Given the description of an element on the screen output the (x, y) to click on. 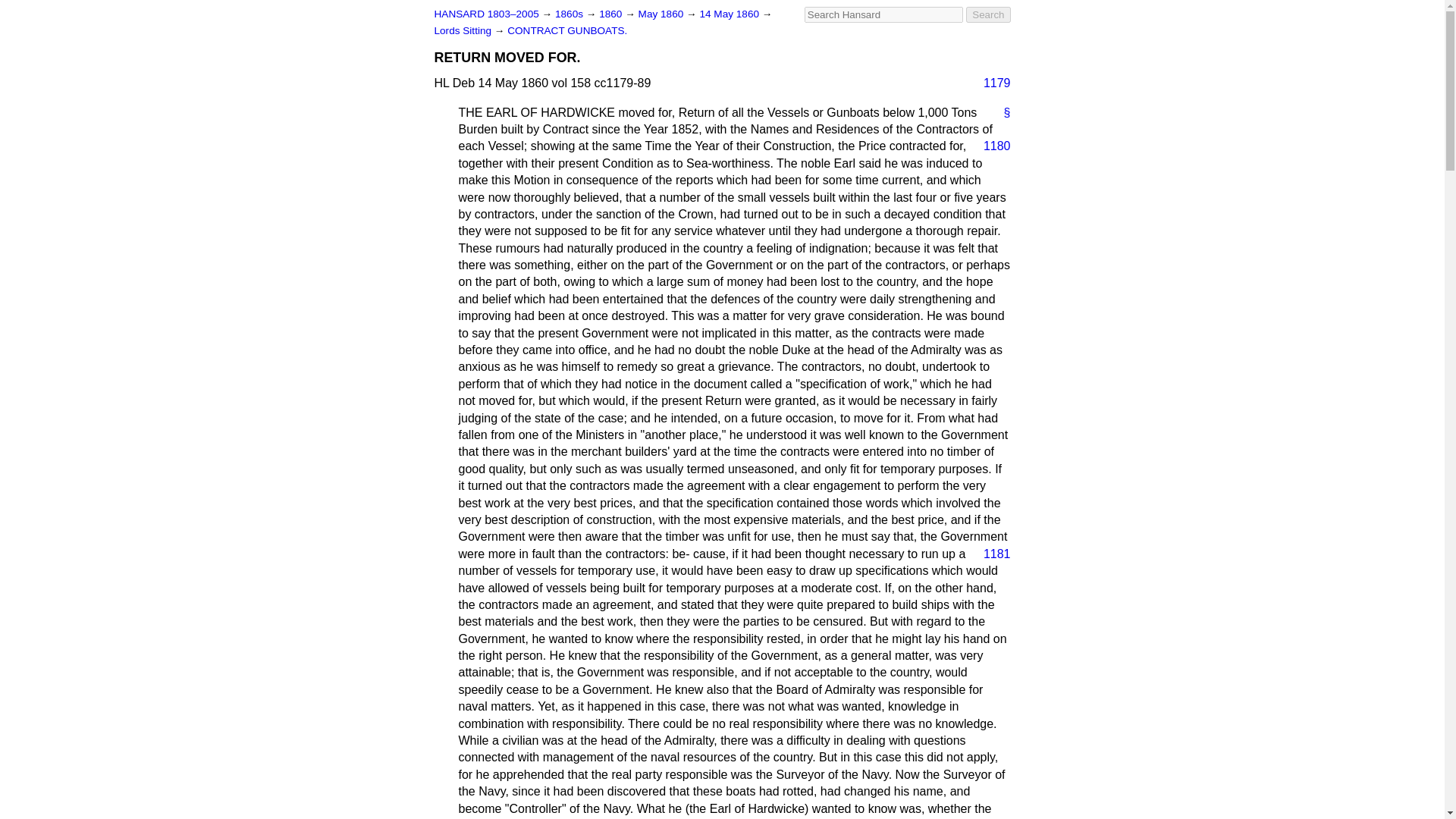
CONTRACT GUNBOATS. (566, 30)
1180 (990, 146)
Access key: S (883, 14)
Lords Sitting (463, 30)
Search (988, 14)
1860 (611, 13)
14 May 1860 (729, 13)
1860s (570, 13)
Search (988, 14)
May 1860 (662, 13)
Link to this contribution (1000, 112)
1181 (990, 554)
1179 (990, 83)
